Given the description of an element on the screen output the (x, y) to click on. 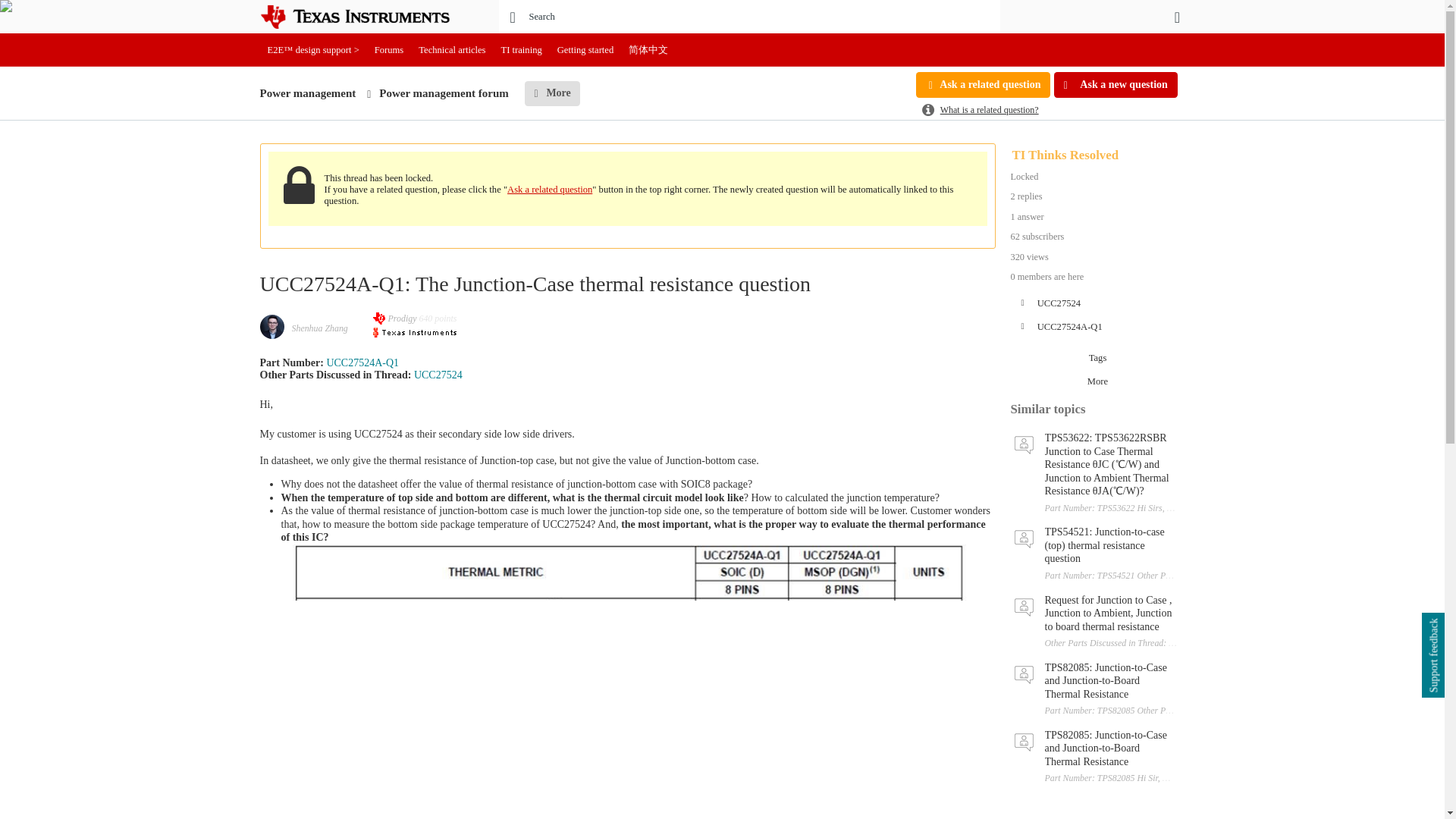
User (1177, 17)
Technical articles (451, 49)
Forums (389, 49)
Click here for explanation of levels (395, 317)
Getting started (585, 49)
Home (365, 16)
Link to Product Folder (362, 362)
Link to Product Folder (438, 374)
TI training (521, 49)
Join or sign in (1177, 17)
